Given the description of an element on the screen output the (x, y) to click on. 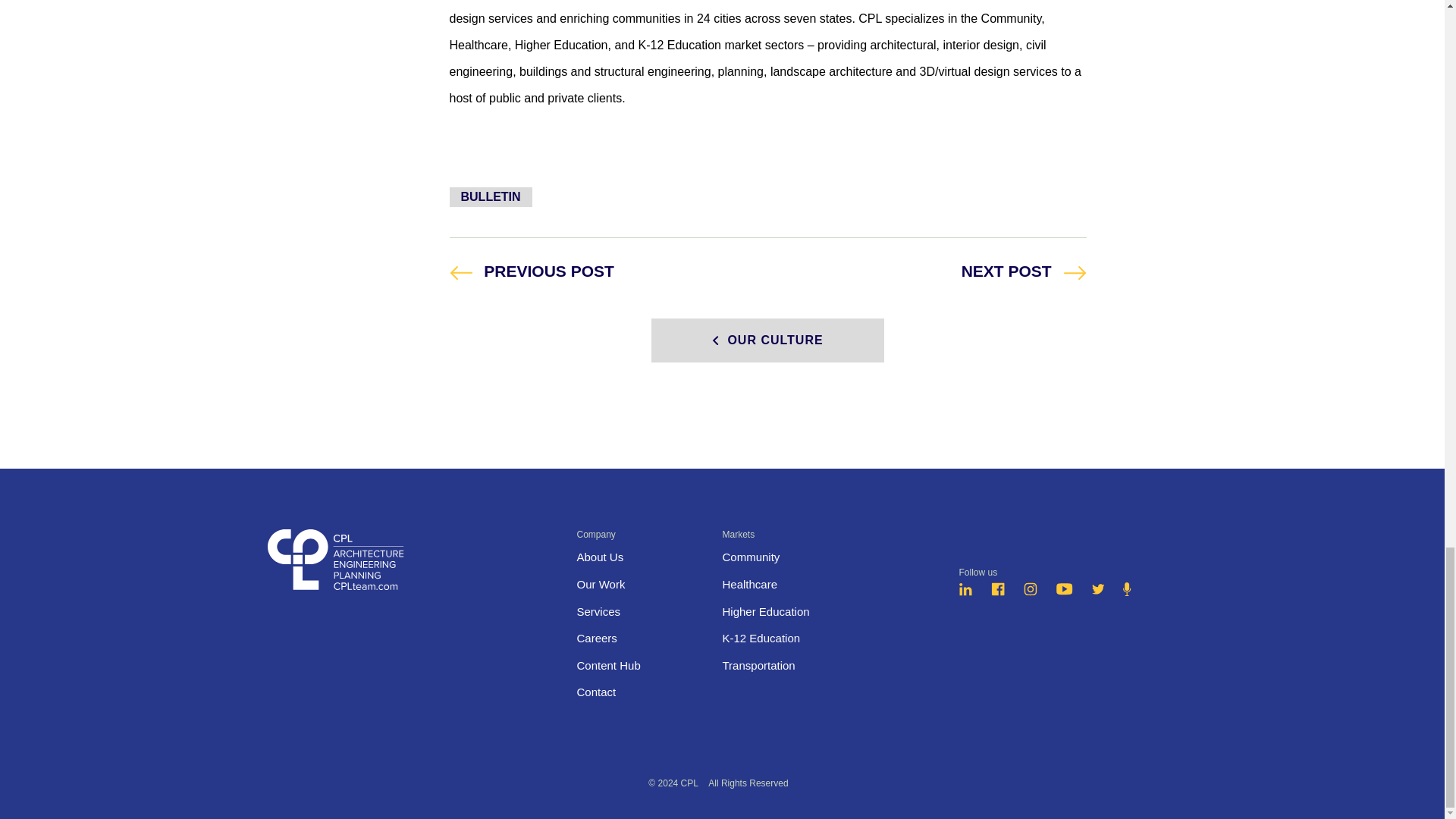
Careers (530, 269)
Facebook (595, 637)
OUR CULTURE (997, 590)
About Us (766, 340)
Services (599, 556)
Instagram (598, 611)
Our Work (1029, 590)
BULLETIN (600, 584)
YouTube (489, 197)
